Given the description of an element on the screen output the (x, y) to click on. 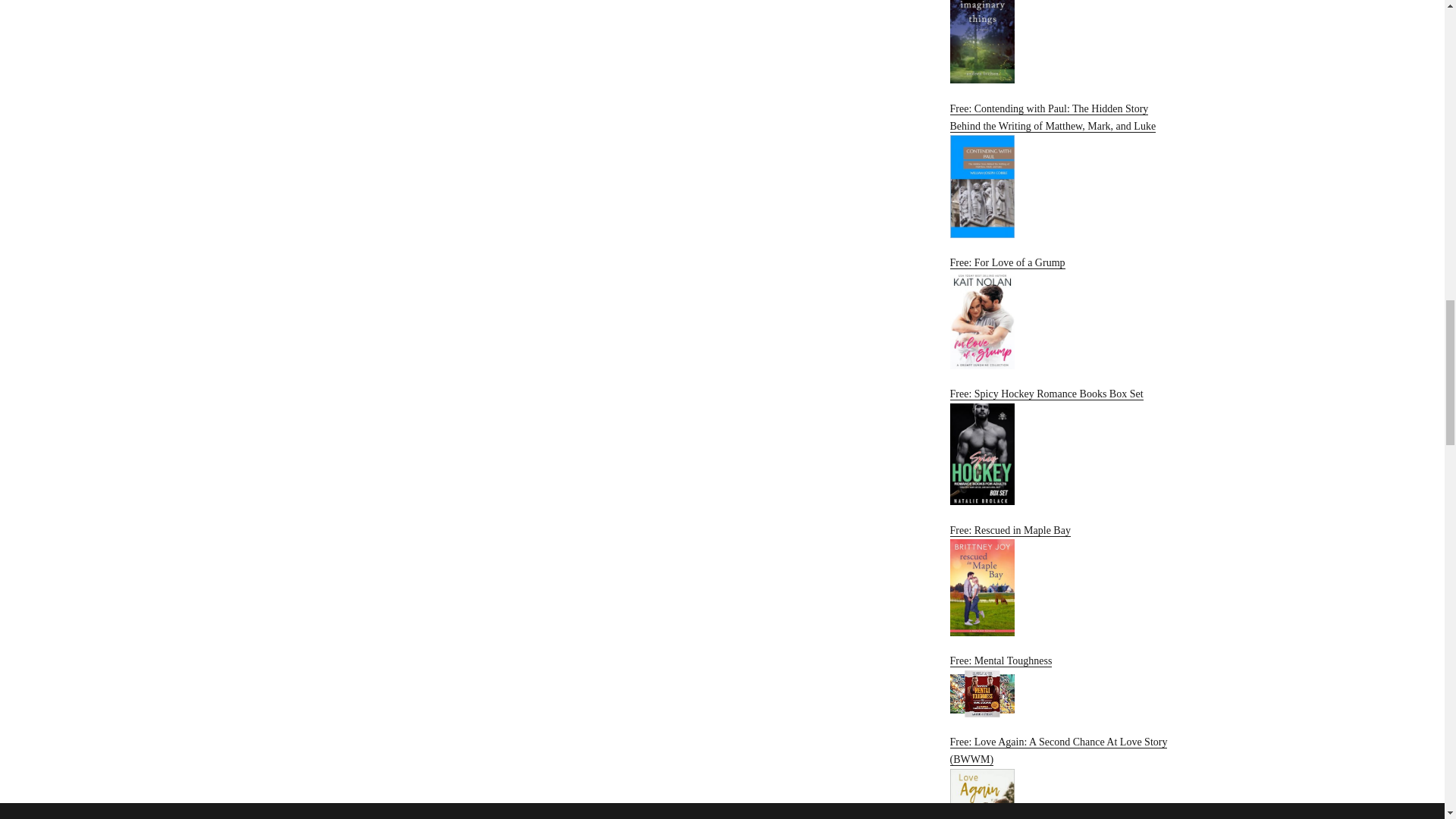
Free: For Love of a Grump (1062, 312)
Free: Imaginary Things (1062, 41)
Free: Spicy Hockey Romance Books Box Set (1062, 446)
Free: Rescued in Maple Bay (1062, 580)
Free: Mental Toughness (1062, 685)
